Given the description of an element on the screen output the (x, y) to click on. 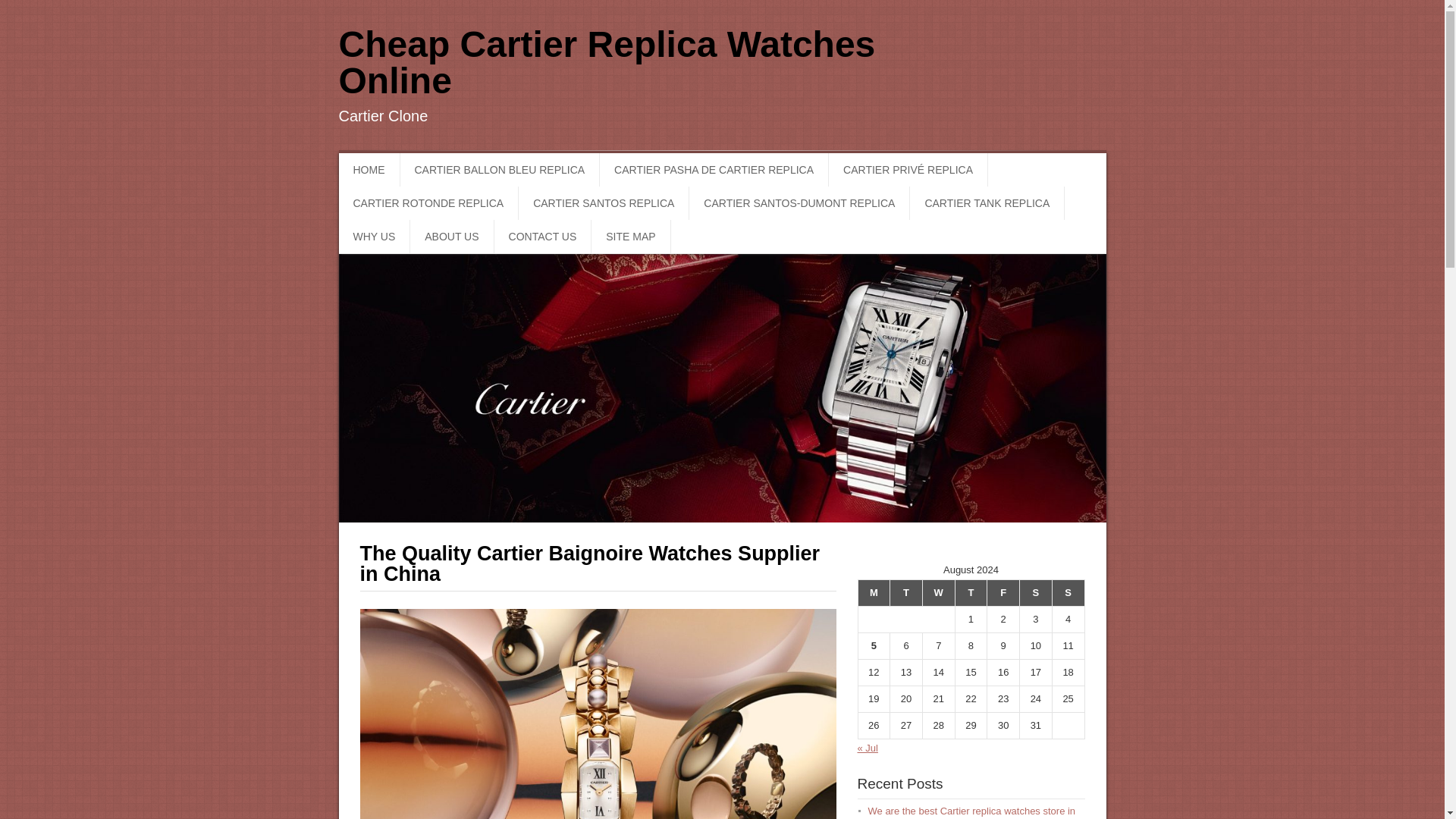
Thursday (971, 592)
CARTIER PASHA DE CARTIER REPLICA (713, 169)
Saturday (1036, 592)
ABOUT US (451, 236)
WHY US (373, 236)
CARTIER ROTONDE REPLICA (427, 203)
HOME (367, 169)
CARTIER SANTOS REPLICA (603, 203)
CONTACT US (543, 236)
SITE MAP (630, 236)
Monday (873, 592)
Sunday (1067, 592)
Wednesday (938, 592)
Friday (1003, 592)
CARTIER BALLON BLEU REPLICA (499, 169)
